Given the description of an element on the screen output the (x, y) to click on. 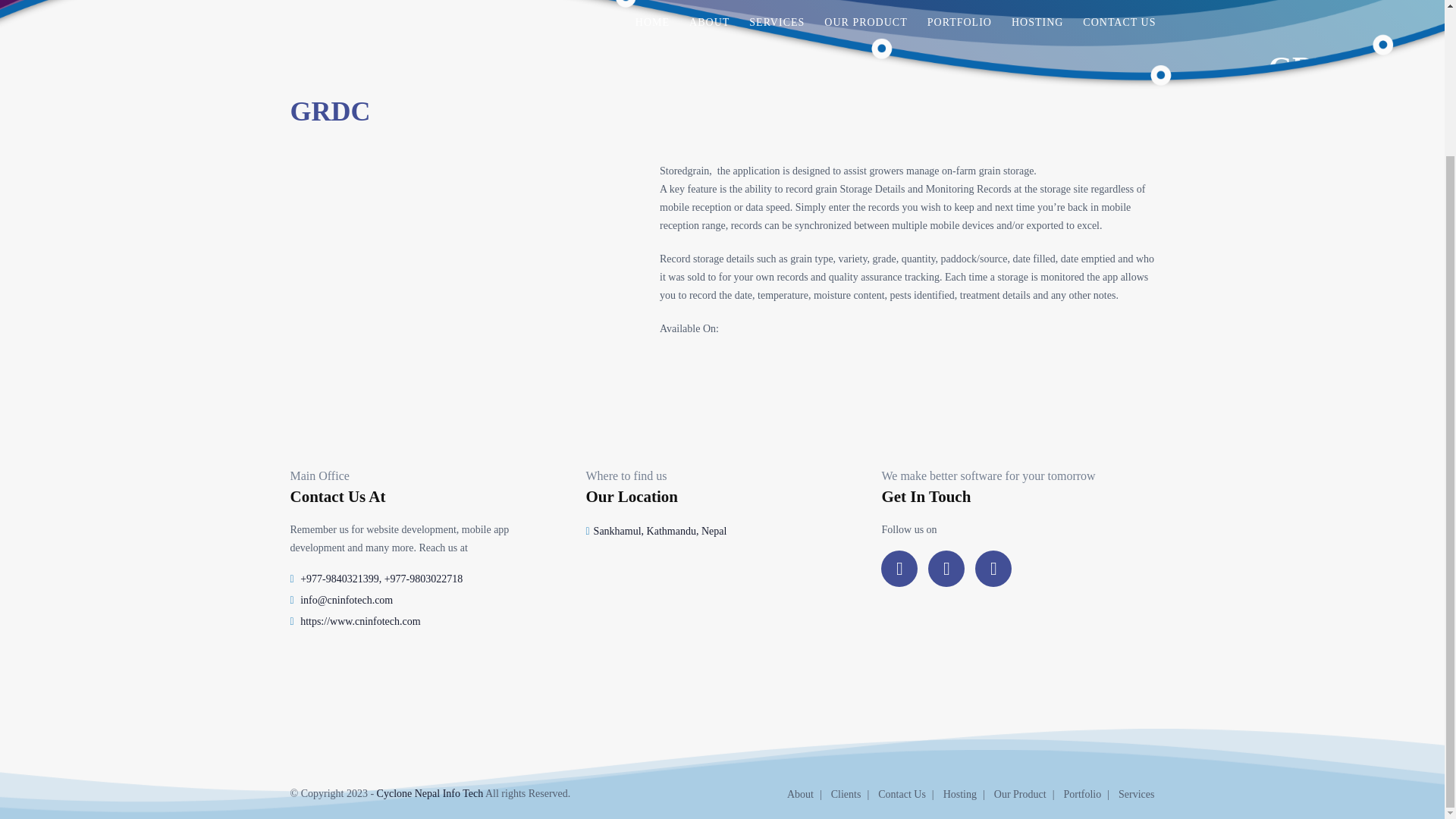
Contact Us (908, 794)
Services (1136, 794)
About (807, 794)
Hosting (967, 794)
Cyclone Nepal Info Tech (430, 792)
Clients (853, 794)
Our Product (1027, 794)
Portfolio (1088, 794)
